Given the description of an element on the screen output the (x, y) to click on. 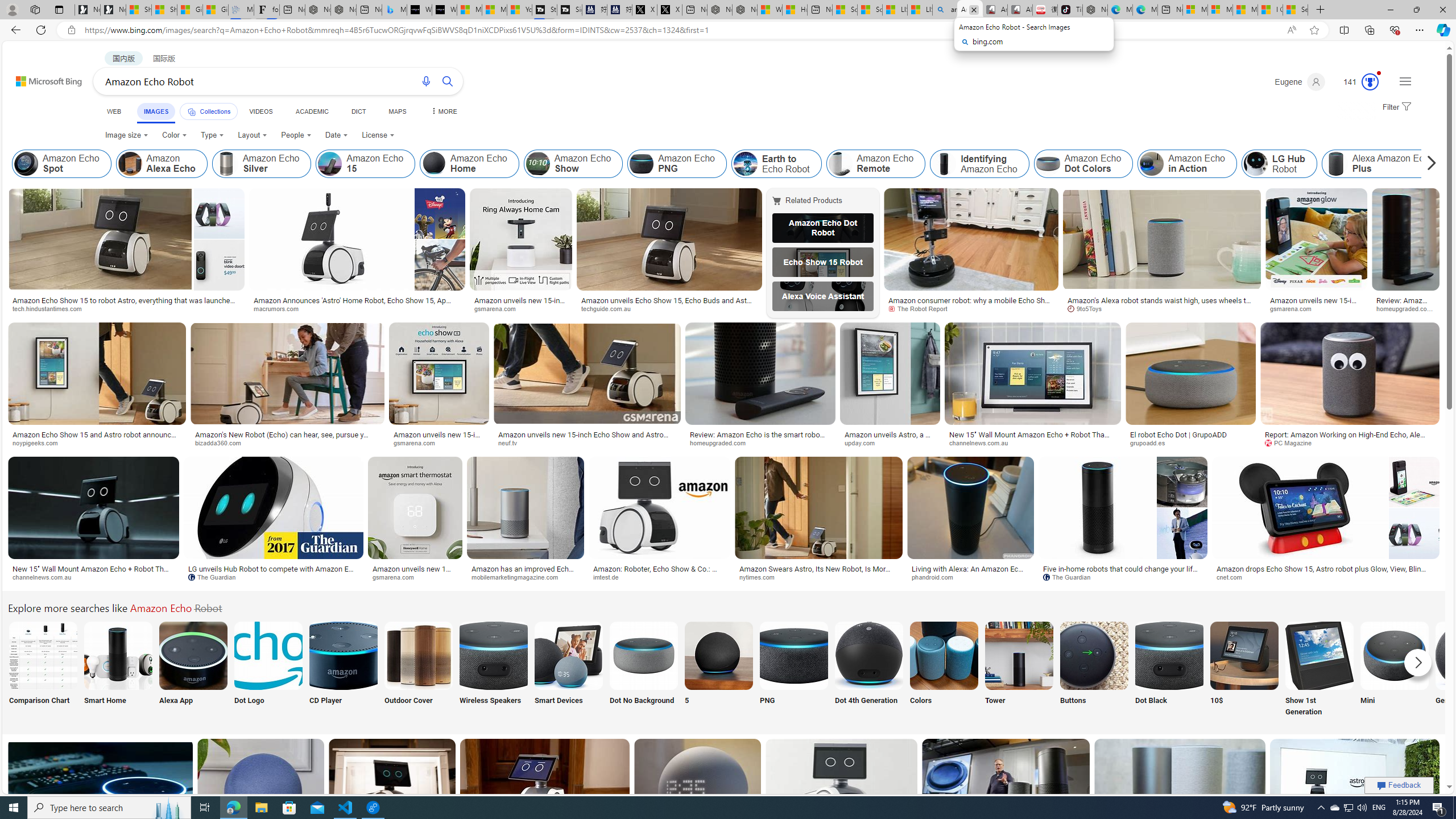
Show 1st Generation (1319, 669)
5 (718, 669)
People (295, 135)
gsmarena.com (414, 576)
tech.hindustantimes.com (51, 308)
upday.com (890, 442)
